Given the description of an element on the screen output the (x, y) to click on. 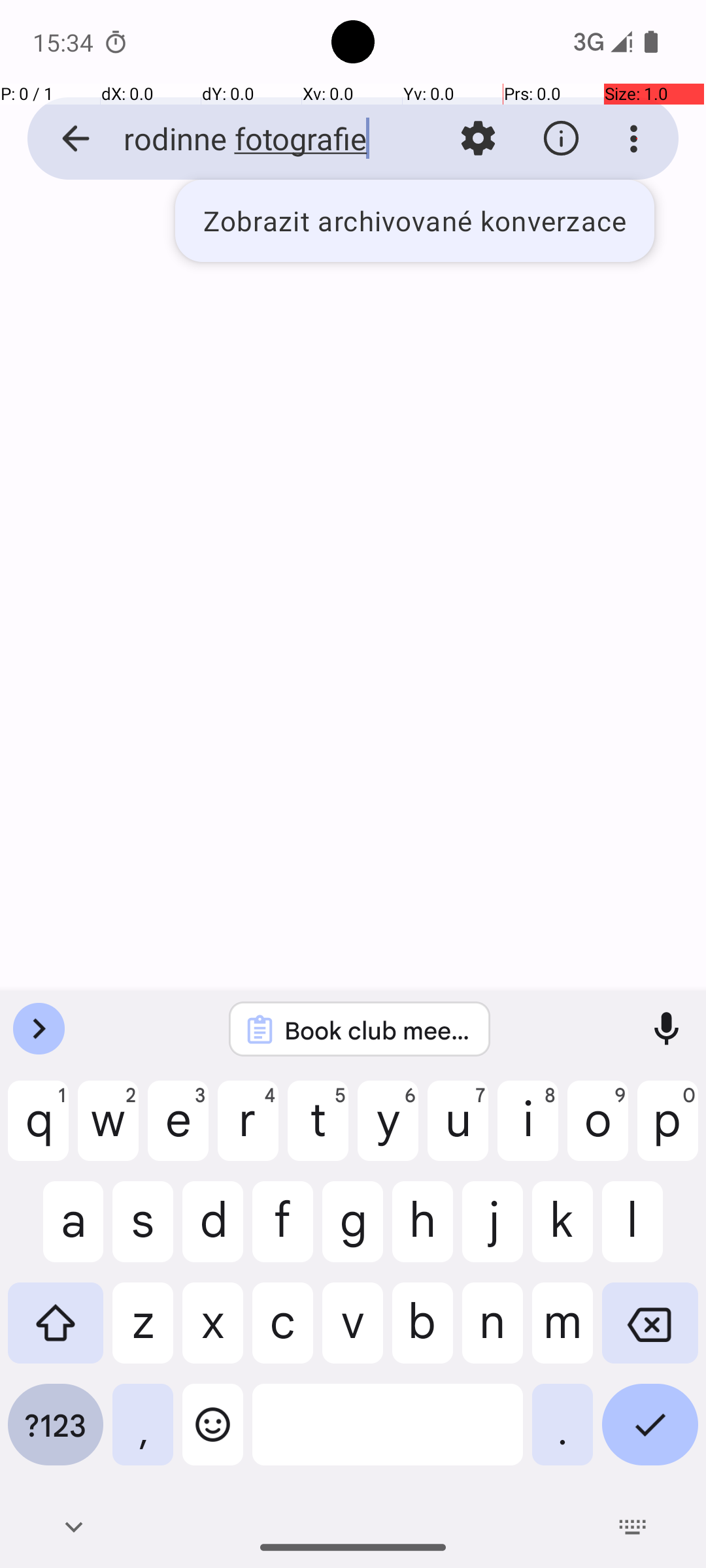
Zobrazit archivované konverzace Element type: android.widget.TextView (414, 220)
